Given the description of an element on the screen output the (x, y) to click on. 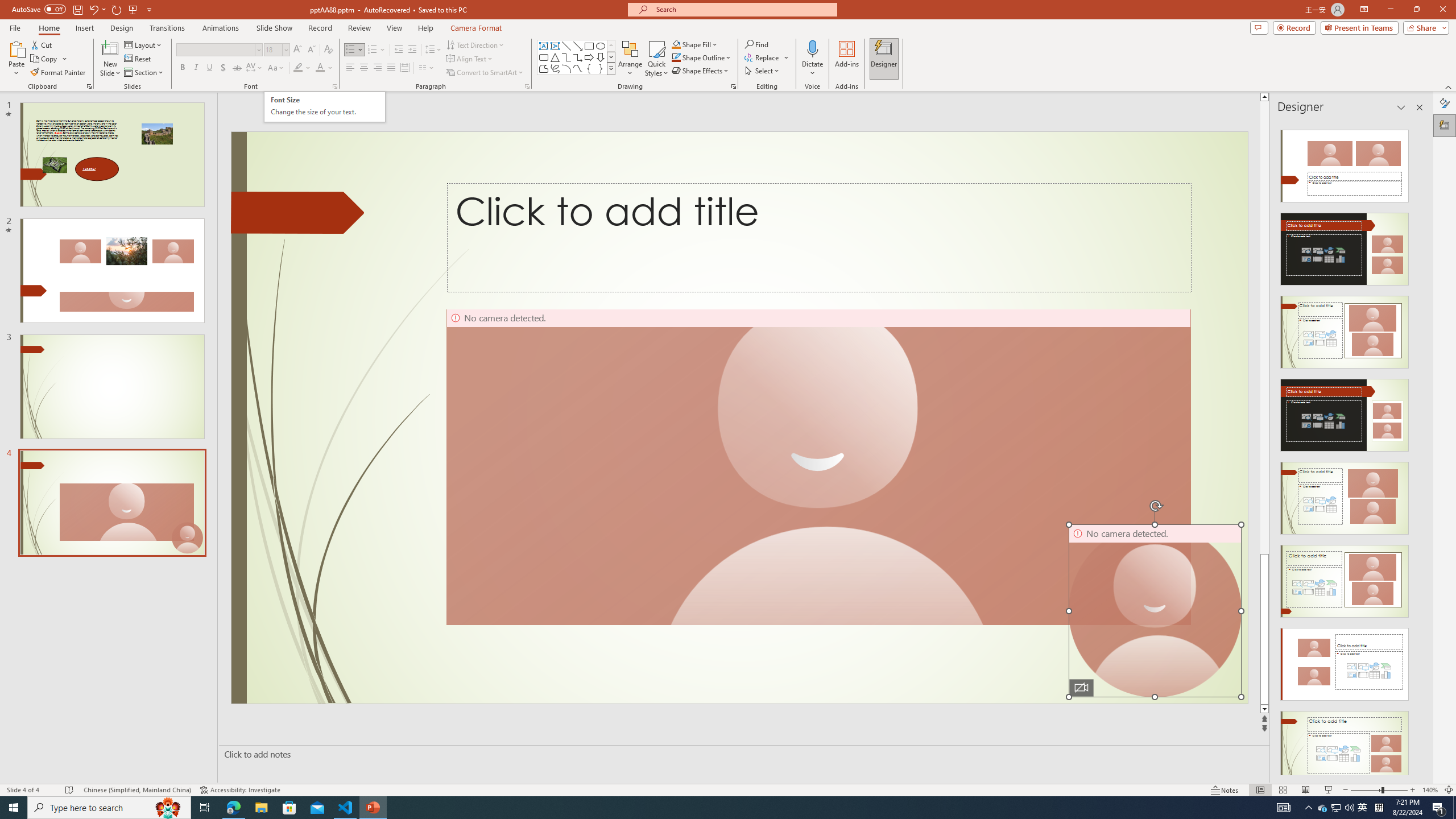
Shape Outline Teal, Accent 1 (675, 56)
